Given the description of an element on the screen output the (x, y) to click on. 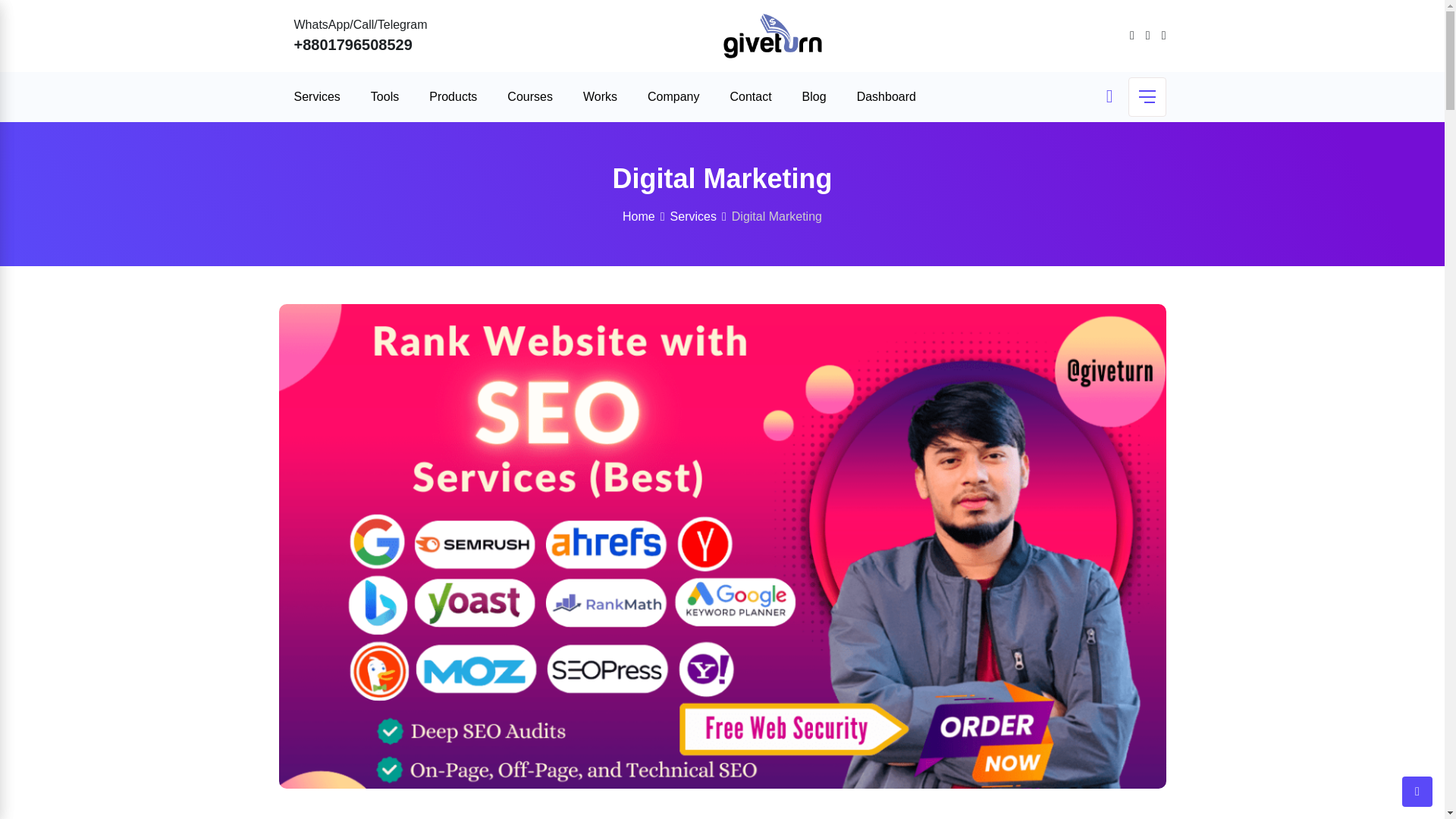
Products (452, 97)
Tools (384, 97)
Services (322, 97)
Go to Services. (692, 215)
Go to GiveTurn Tech Expert. (639, 215)
